Given the description of an element on the screen output the (x, y) to click on. 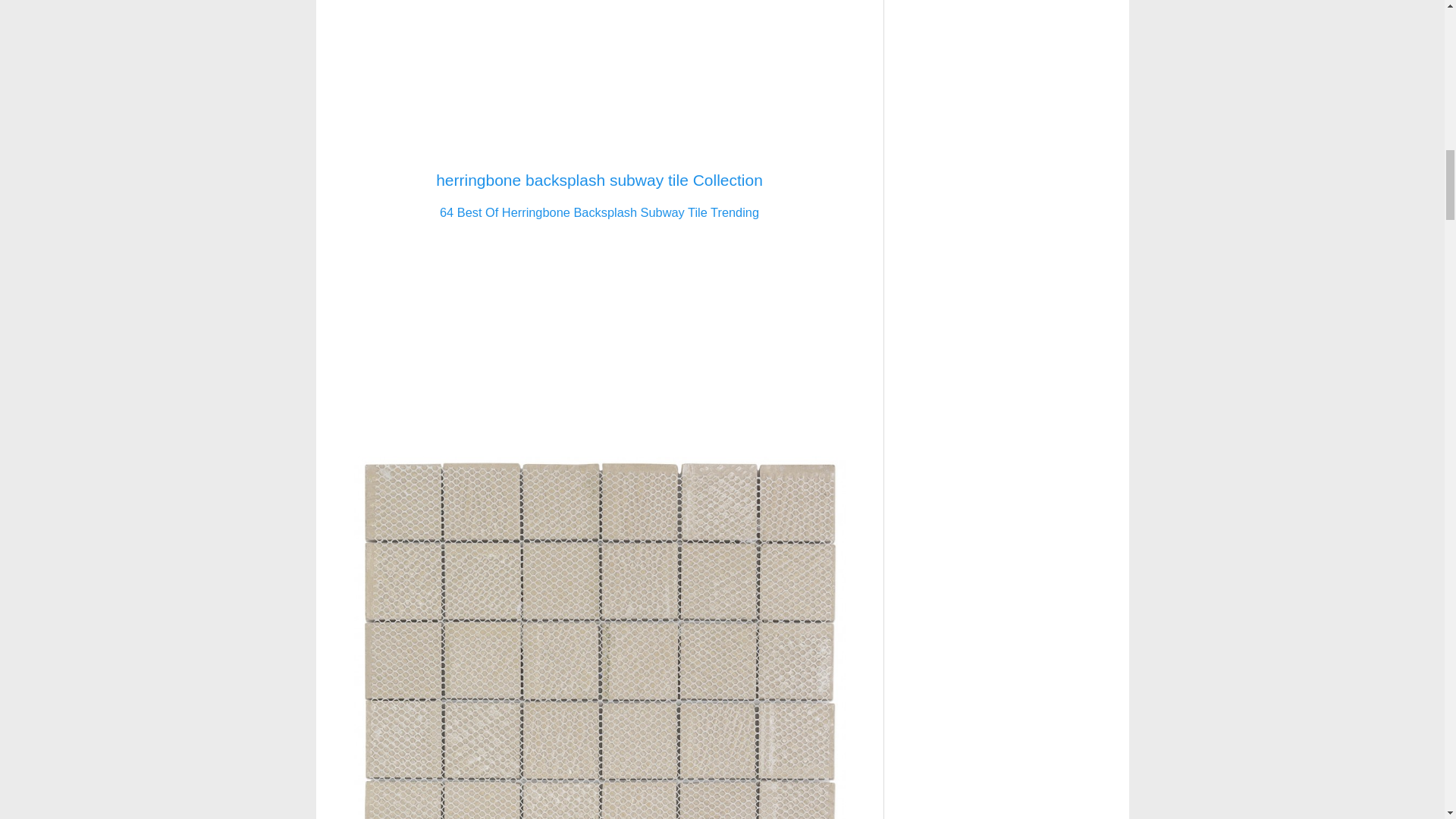
Advertisement (599, 339)
Advertisement (599, 79)
